Given the description of an element on the screen output the (x, y) to click on. 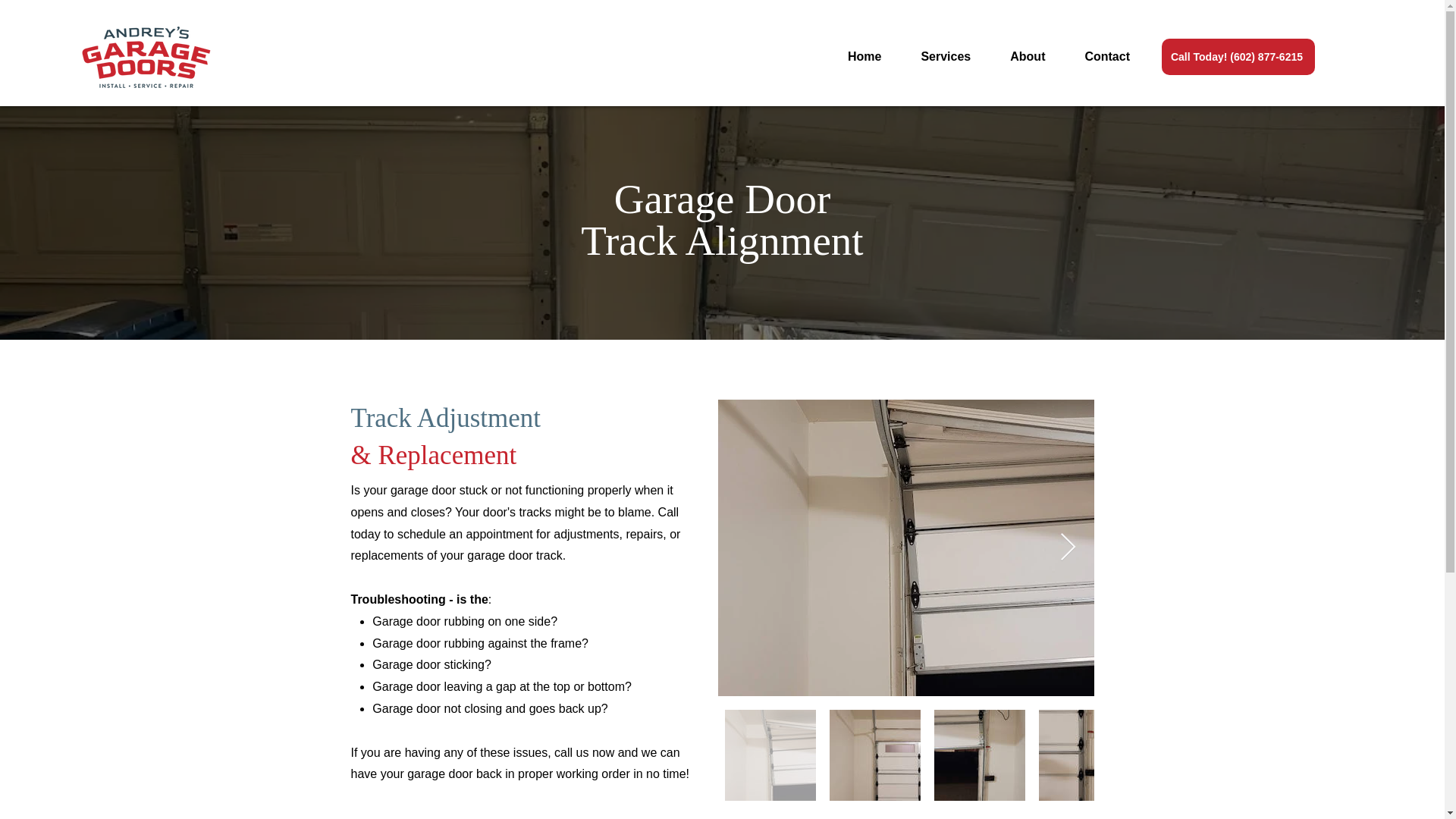
Services (945, 56)
Home (864, 56)
Contact (1107, 56)
About (989, 56)
